Given the description of an element on the screen output the (x, y) to click on. 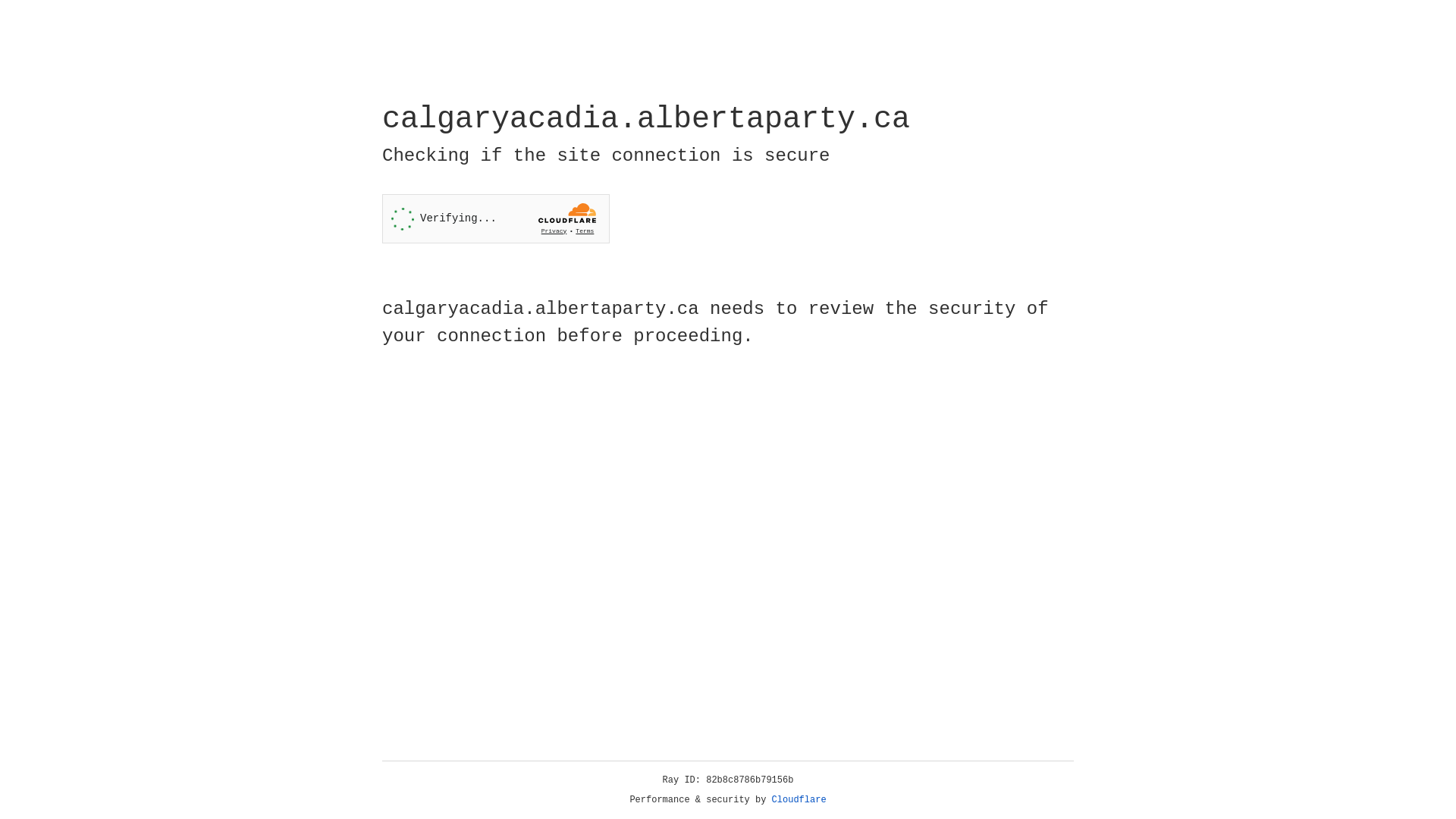
Cloudflare Element type: text (798, 799)
Widget containing a Cloudflare security challenge Element type: hover (495, 218)
